Given the description of an element on the screen output the (x, y) to click on. 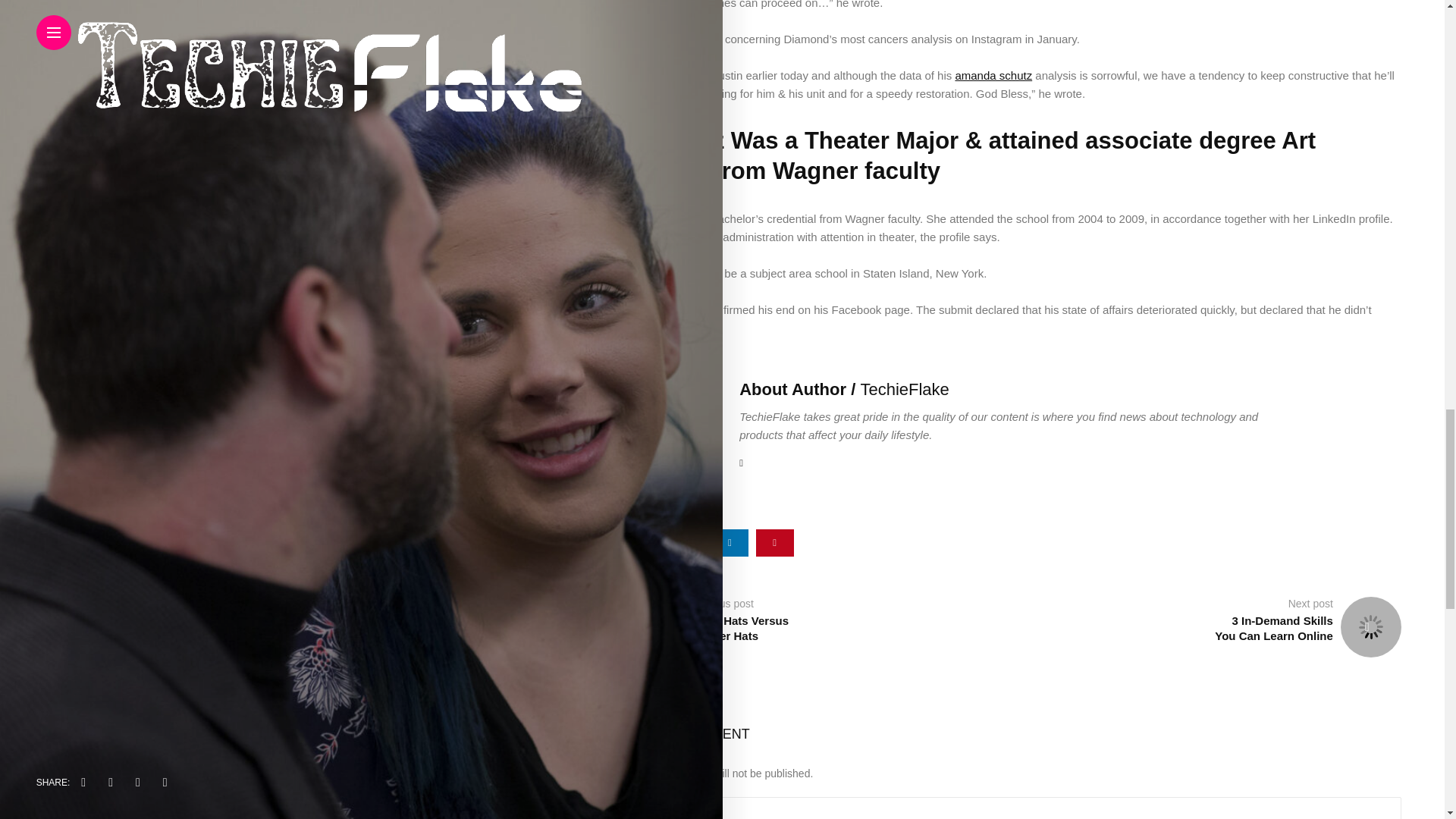
facebook (640, 542)
Posts by TechieFlake (904, 389)
